Given the description of an element on the screen output the (x, y) to click on. 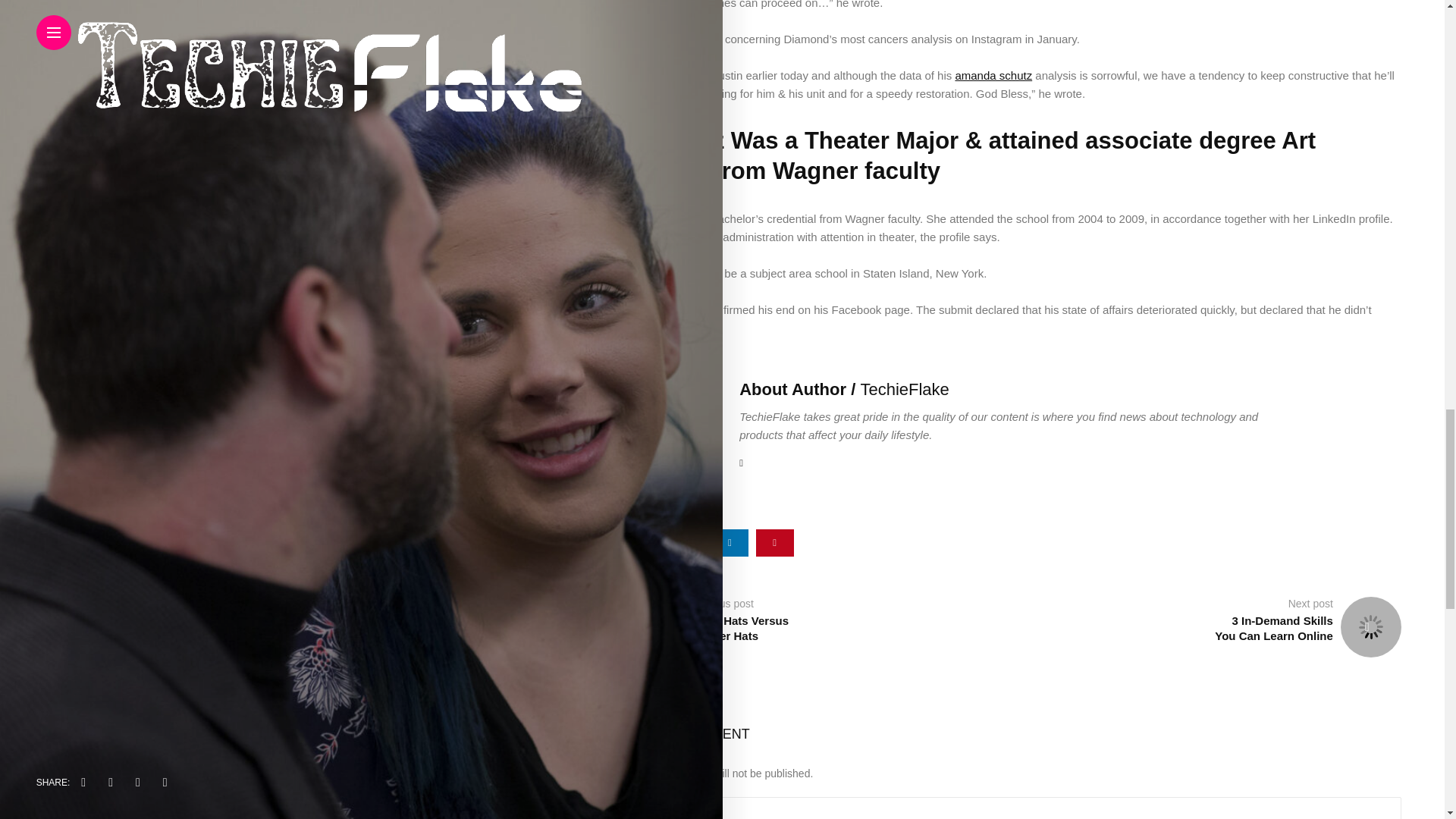
facebook (640, 542)
Posts by TechieFlake (904, 389)
